Given the description of an element on the screen output the (x, y) to click on. 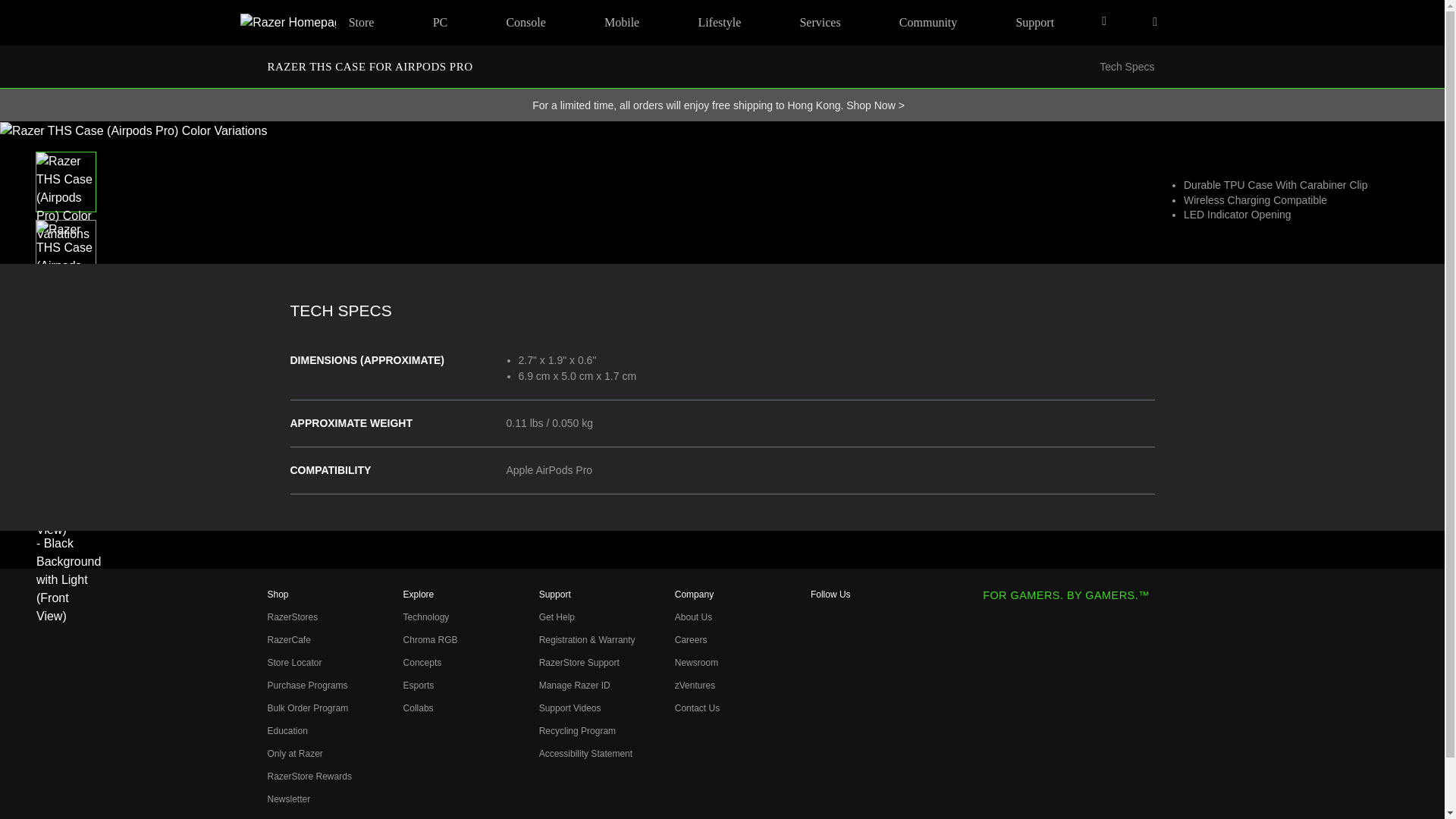
Twitch (820, 771)
RazerStores (291, 616)
Tech Specs (1126, 67)
TikTok (820, 745)
Support (1034, 22)
Purchase Programs (306, 685)
Only at Razer (293, 753)
Education (286, 730)
Discord (820, 795)
RazerStore Rewards (308, 776)
